Given the description of an element on the screen output the (x, y) to click on. 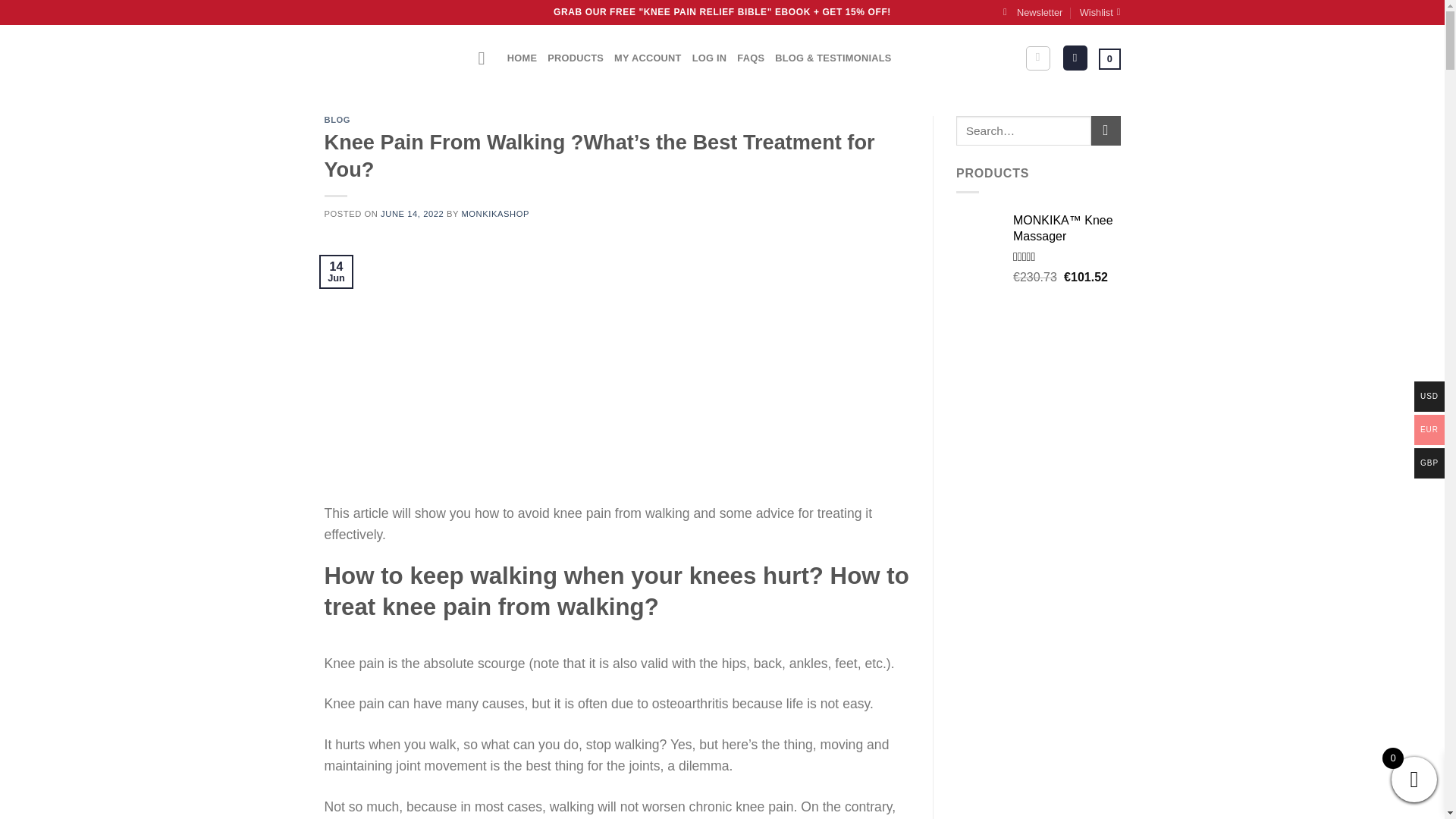
JUNE 14, 2022 (412, 213)
Wishlist (1100, 12)
Newsletter (1032, 12)
MY ACCOUNT (647, 57)
MONKIKASHOP (494, 213)
Login (1074, 57)
PRODUCTS (575, 57)
Sign up for Newsletter (1032, 12)
